Given the description of an element on the screen output the (x, y) to click on. 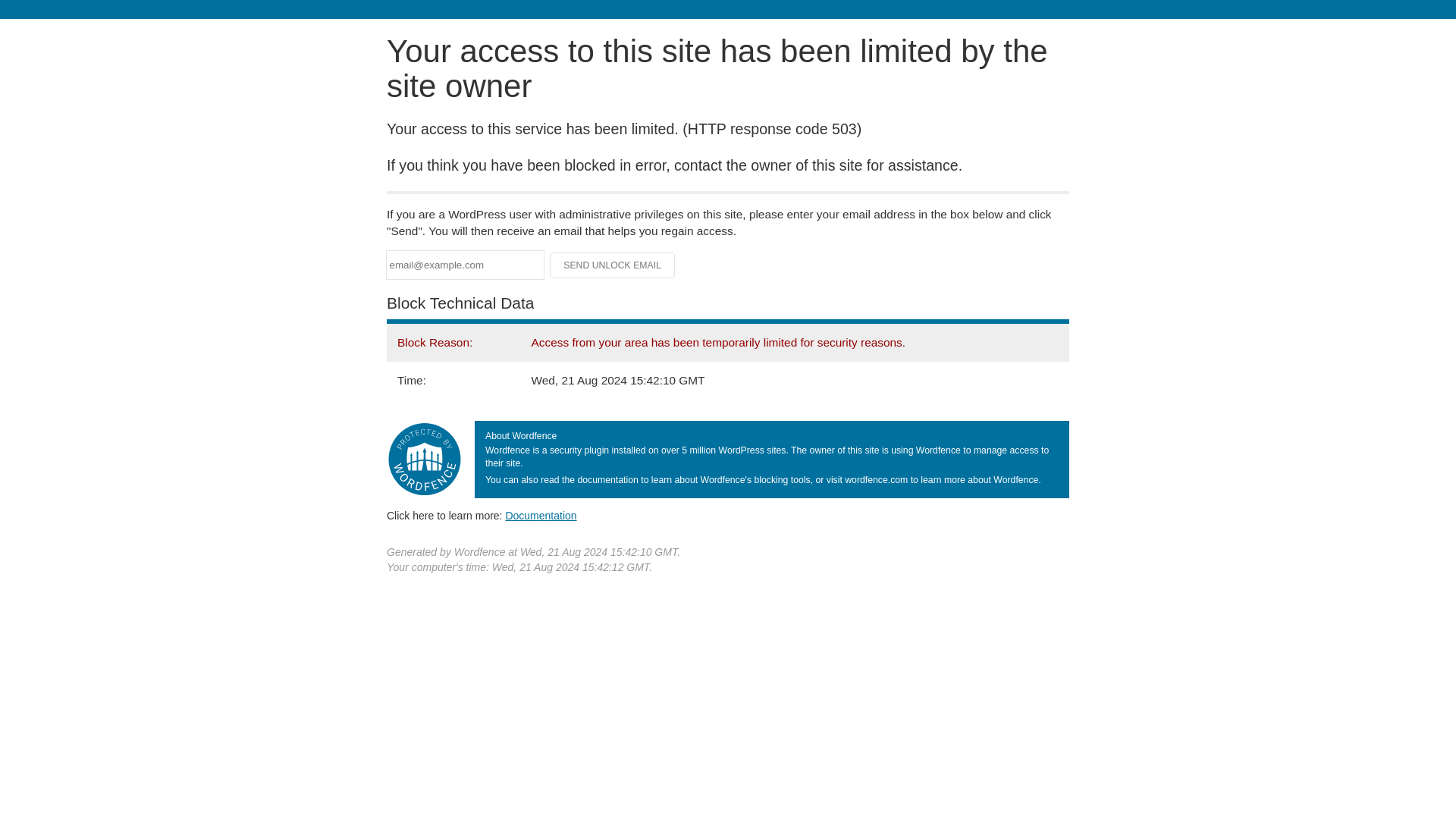
Send Unlock Email (612, 265)
Documentation (540, 515)
Send Unlock Email (612, 265)
